Given the description of an element on the screen output the (x, y) to click on. 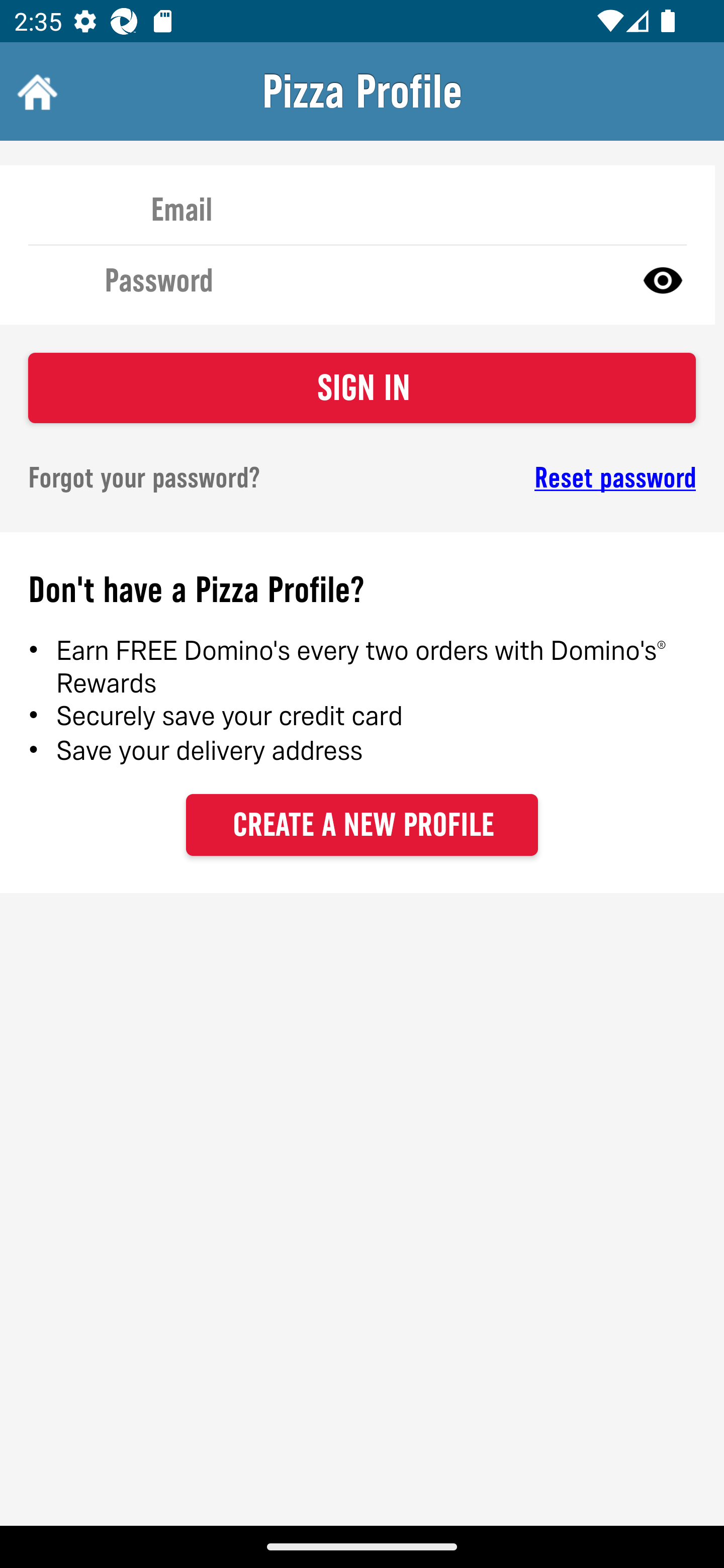
Home (35, 91)
Show Password (663, 279)
SIGN IN (361, 387)
Reset password (545, 477)
CREATE A NEW PROFILE (361, 824)
